Given the description of an element on the screen output the (x, y) to click on. 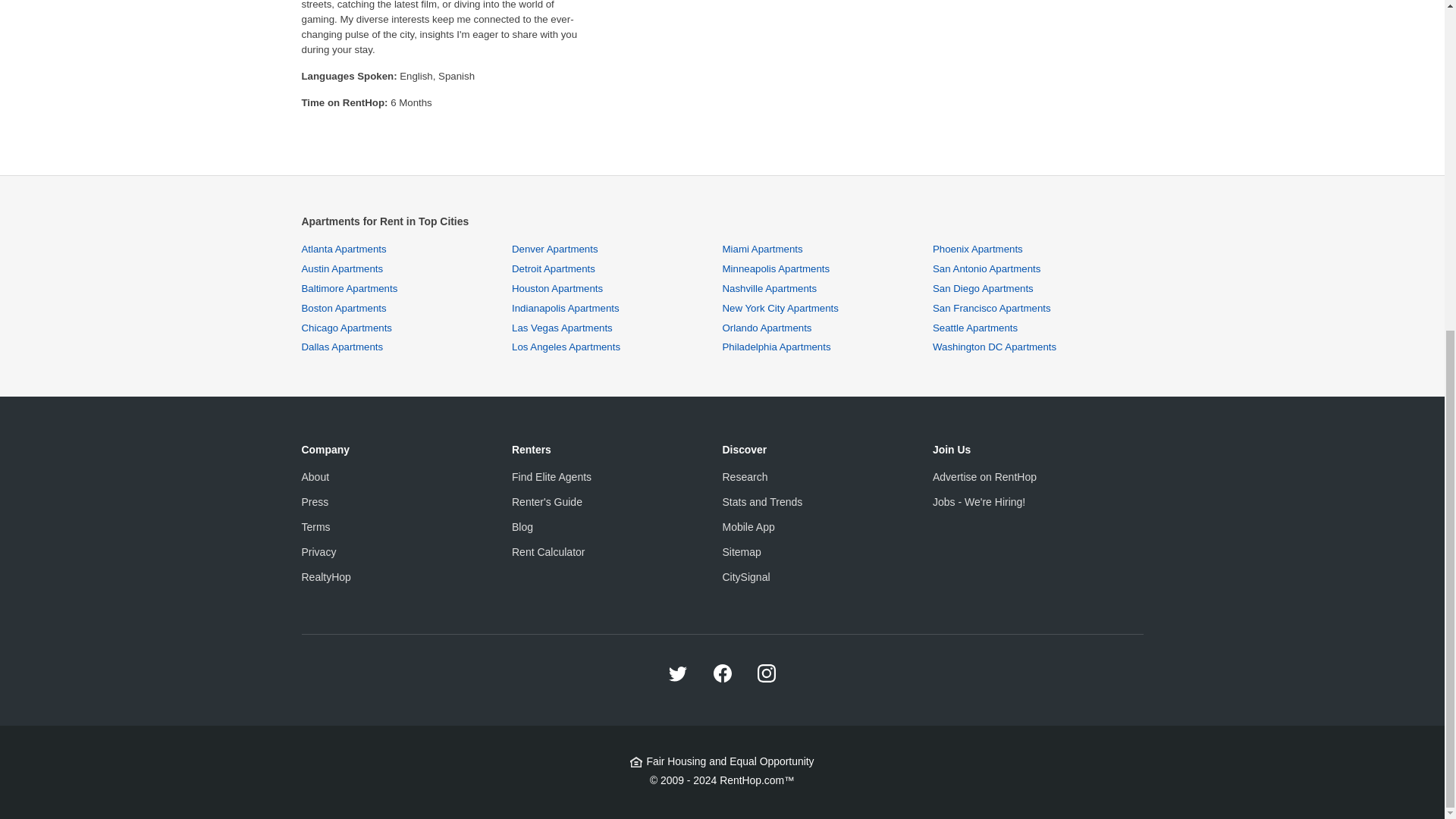
Detroit Apartments (553, 268)
Denver Apartments (555, 248)
Minneapolis Apartments (775, 268)
Indianapolis Apartments (566, 307)
Las Vegas Apartments (562, 327)
Nashville Apartments (769, 288)
Atlanta Apartments (344, 248)
Chicago Apartments (346, 327)
Miami Apartments (762, 248)
Austin Apartments (342, 268)
